Given the description of an element on the screen output the (x, y) to click on. 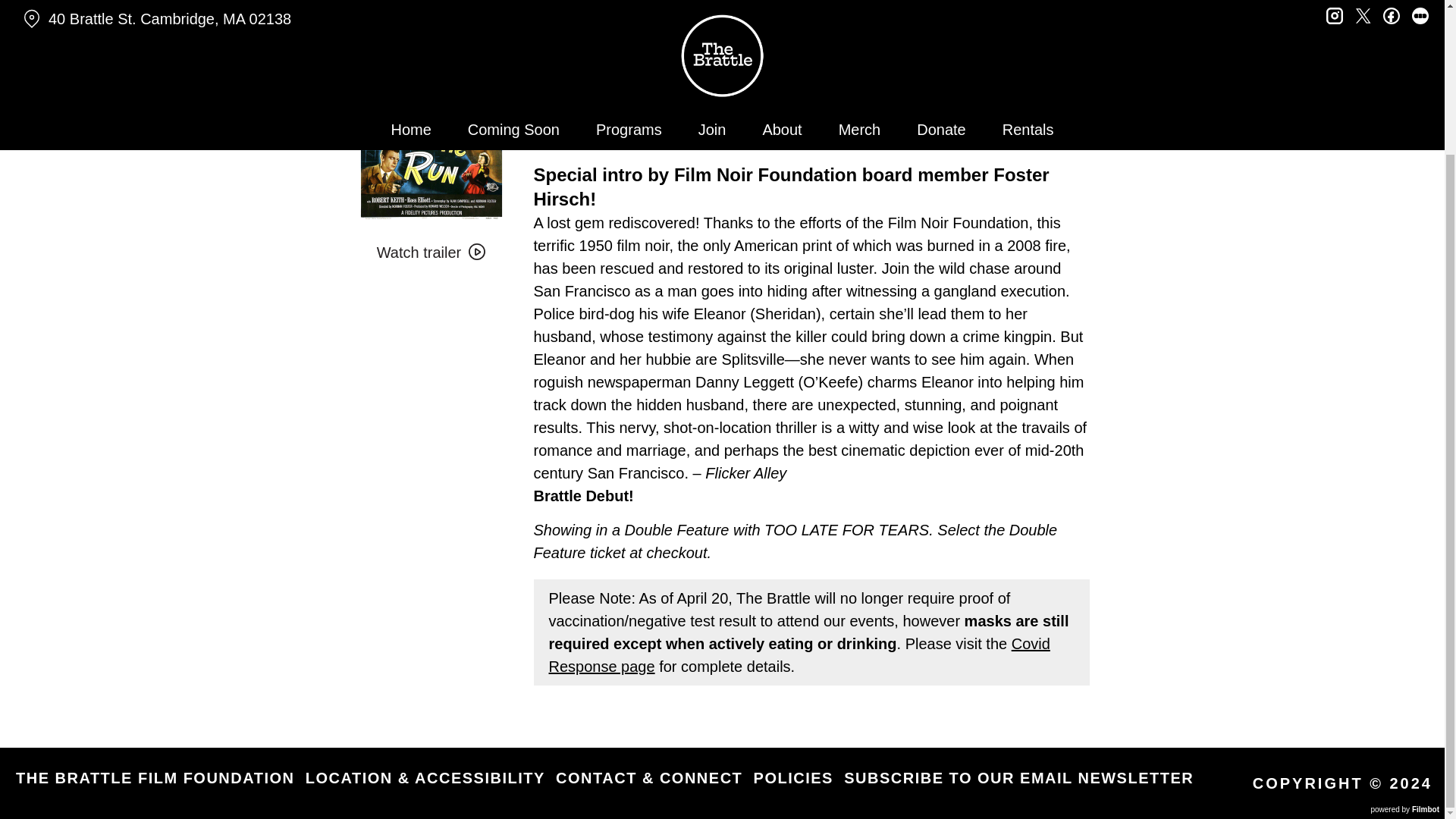
Covid Response page (798, 654)
Watch trailer (430, 252)
